Given the description of an element on the screen output the (x, y) to click on. 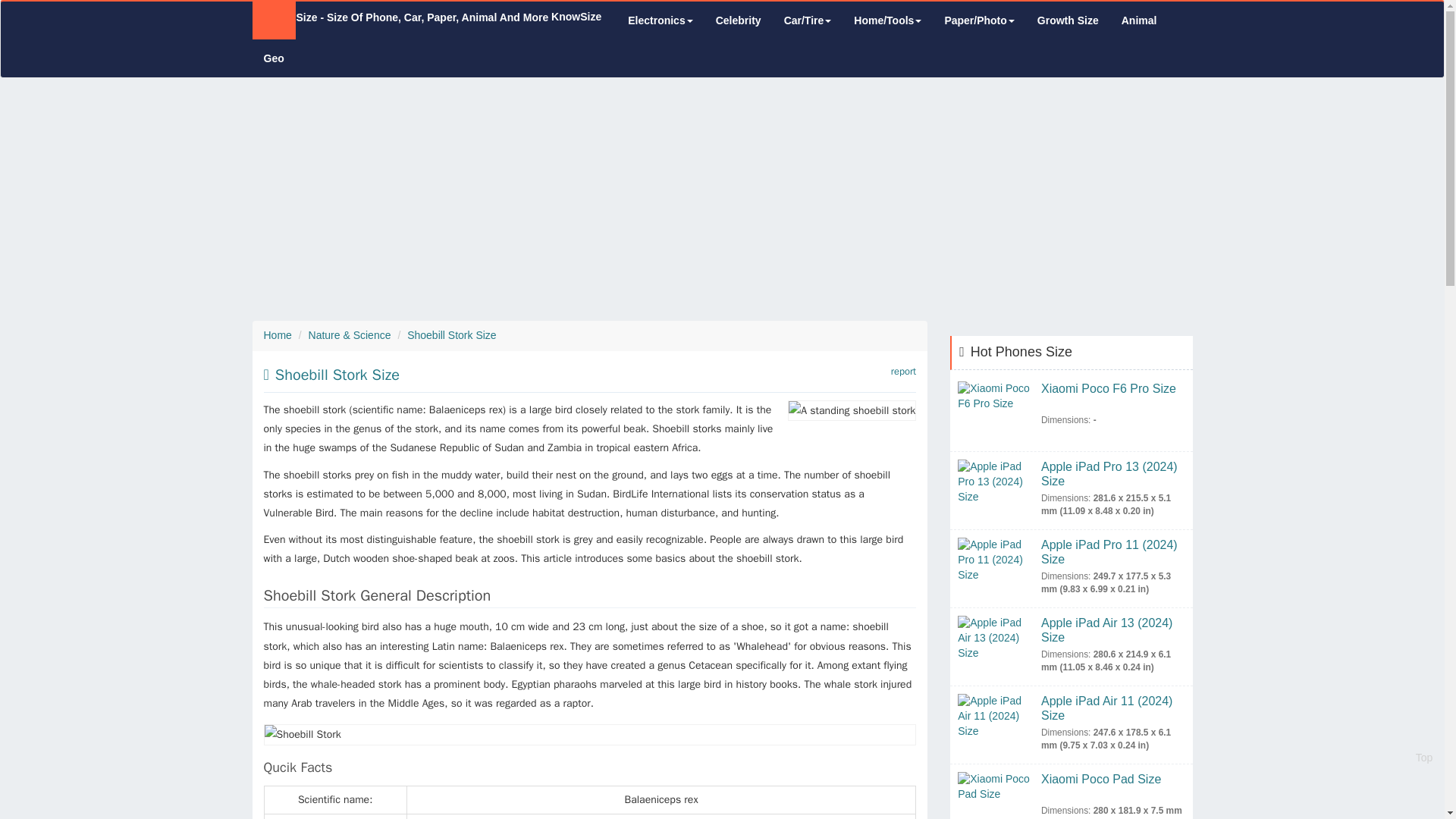
A standing shoebill stork (851, 410)
KnowSize (426, 16)
Shoebill Stork (590, 733)
Electronics (659, 20)
